Given the description of an element on the screen output the (x, y) to click on. 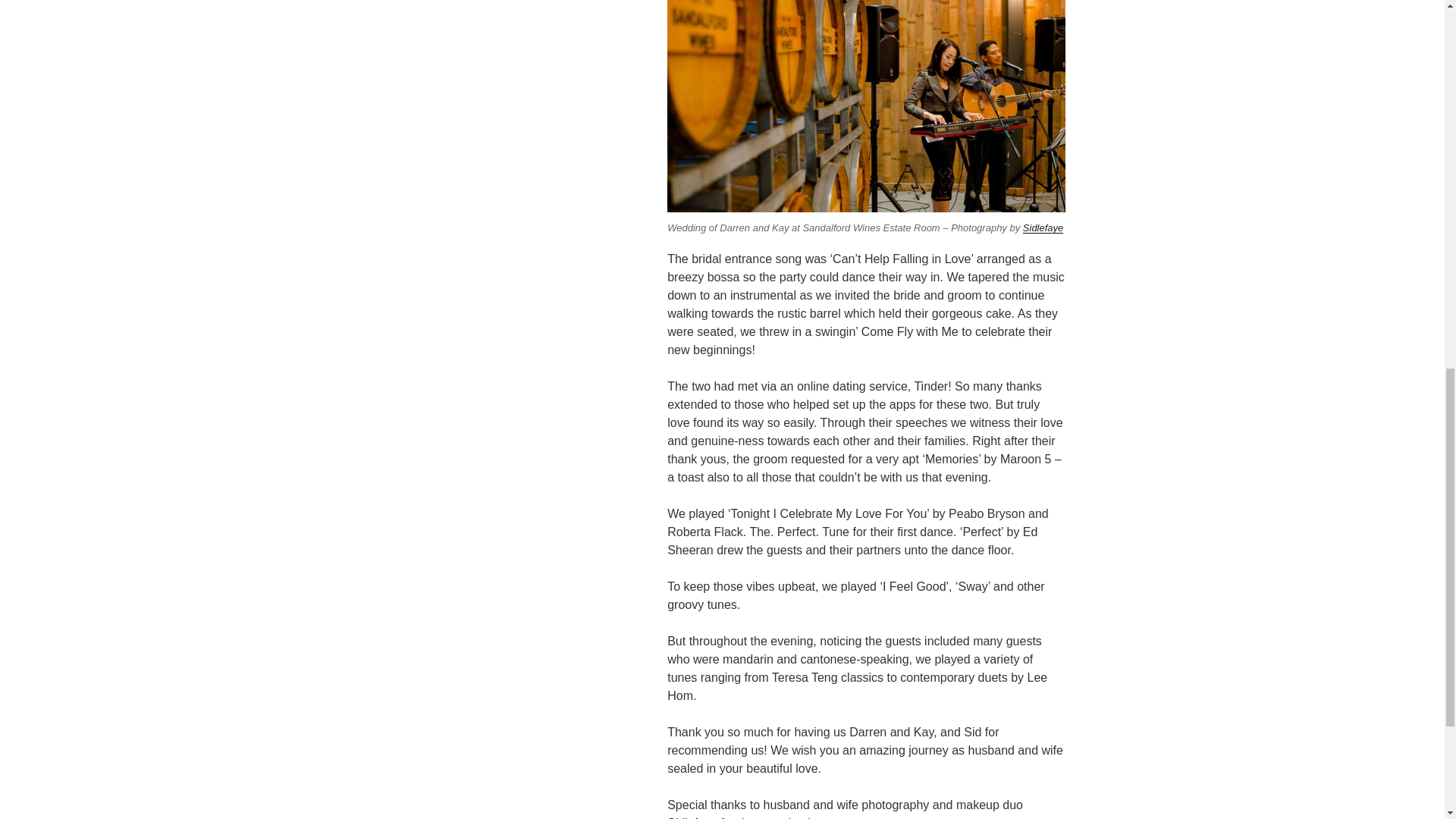
Sidlefaye (691, 817)
Sidlefaye (1042, 227)
